Given the description of an element on the screen output the (x, y) to click on. 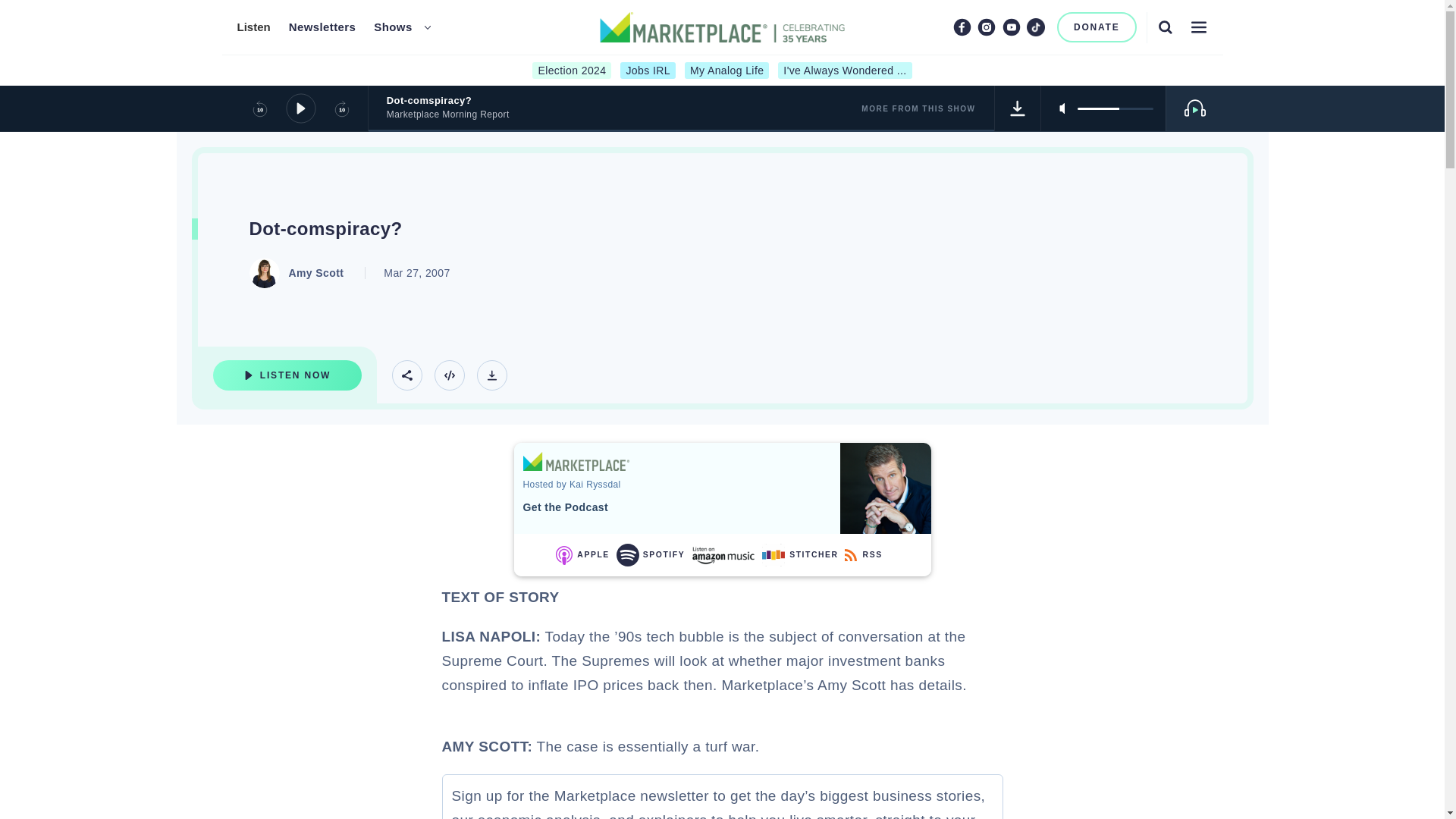
Listen (252, 26)
volume (1115, 108)
Youtube (1011, 27)
Facebook (962, 27)
Search (1164, 27)
DONATE (1097, 27)
Skip 10 Seconds (341, 108)
Playback 10 Seconds (259, 108)
Marketplace (575, 461)
Menu (1198, 27)
Instagram (985, 27)
Download Track (1017, 108)
Shows (393, 26)
TikTok (1035, 27)
